Given the description of an element on the screen output the (x, y) to click on. 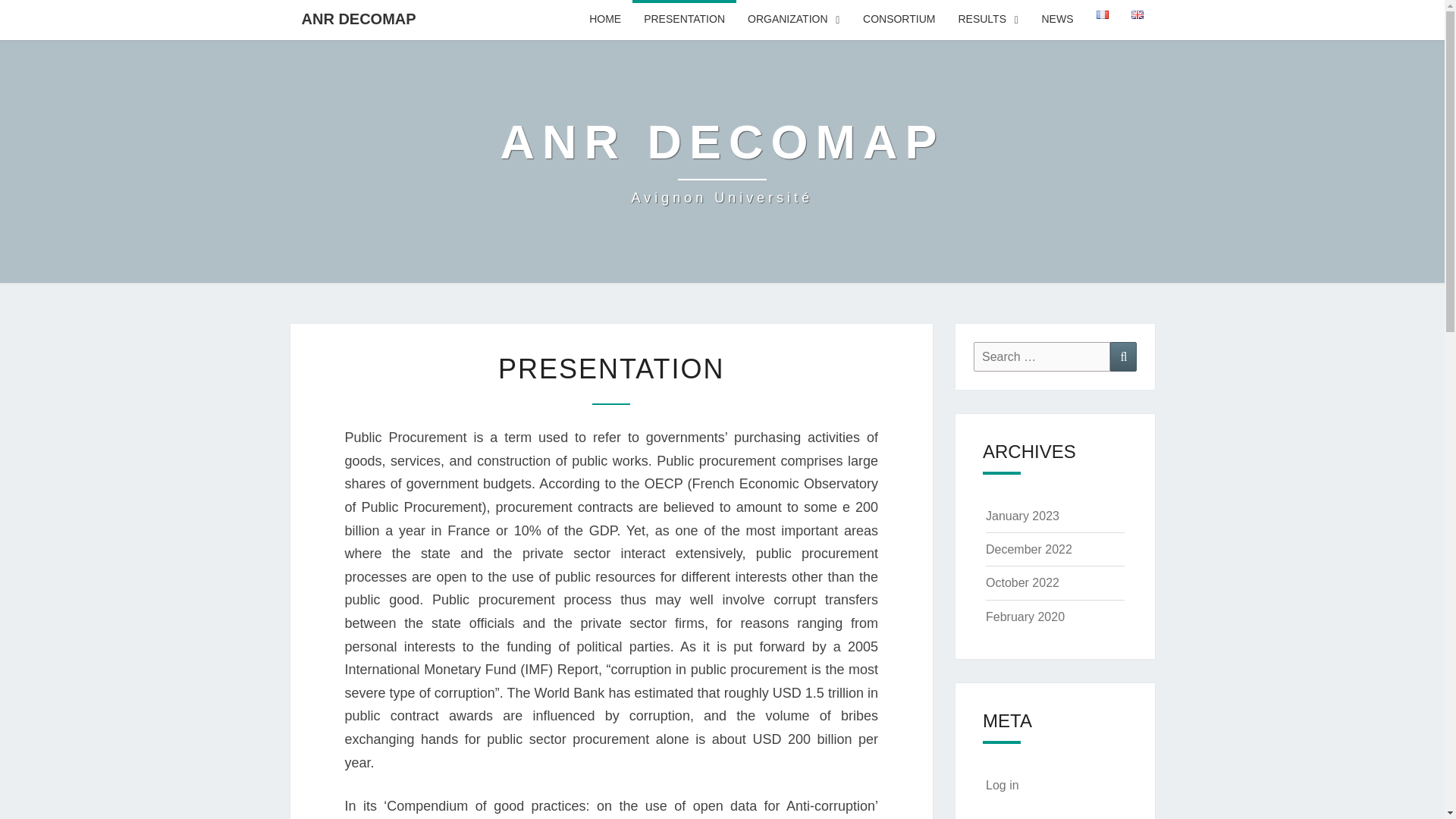
December 2022 (1028, 549)
PRESENTATION (683, 19)
January 2023 (1022, 515)
CONSORTIUM (898, 19)
ANR DECOMAP (357, 18)
HOME (604, 19)
Search (1123, 356)
ANR DeCoMaP (721, 161)
RESULTS (987, 19)
October 2022 (1022, 582)
